Given the description of an element on the screen output the (x, y) to click on. 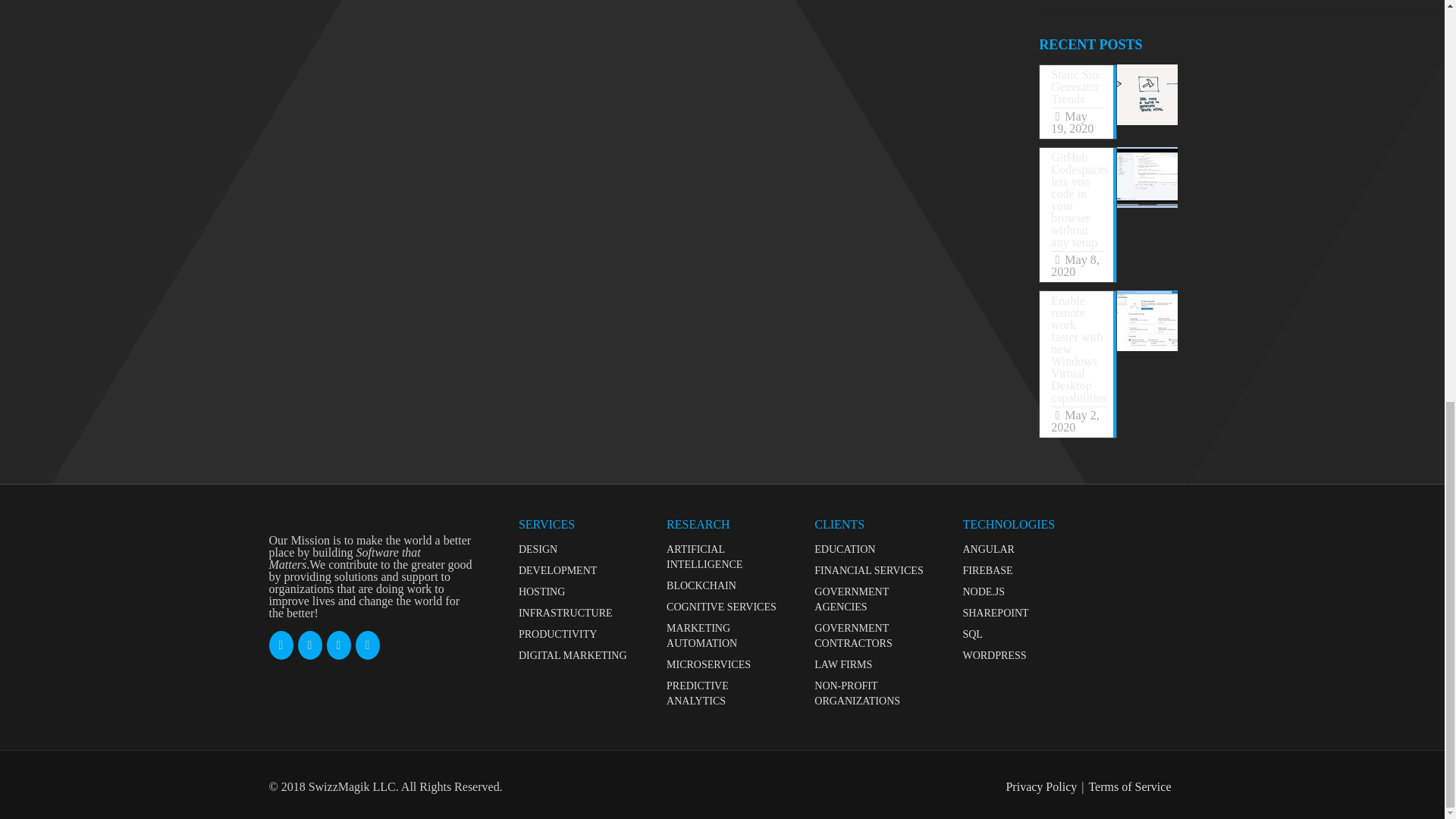
Static Site Generator Trends (1146, 94)
